Given the description of an element on the screen output the (x, y) to click on. 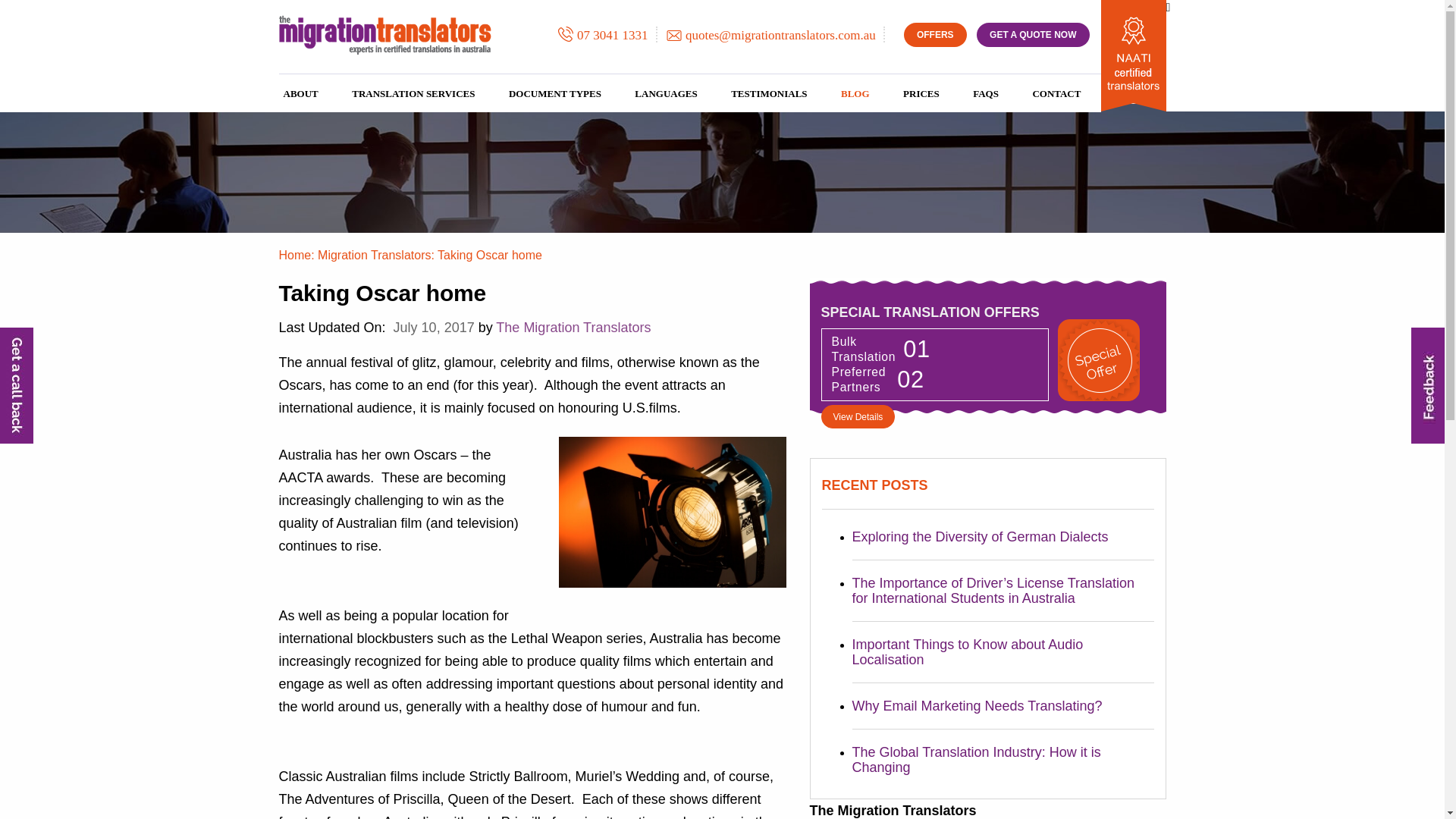
The Migration Translators (385, 34)
Go to The Migration Translators. (295, 254)
Live Chat Button (1414, 788)
Film (672, 512)
Go to the Migration Translators category archives. (373, 254)
